Given the description of an element on the screen output the (x, y) to click on. 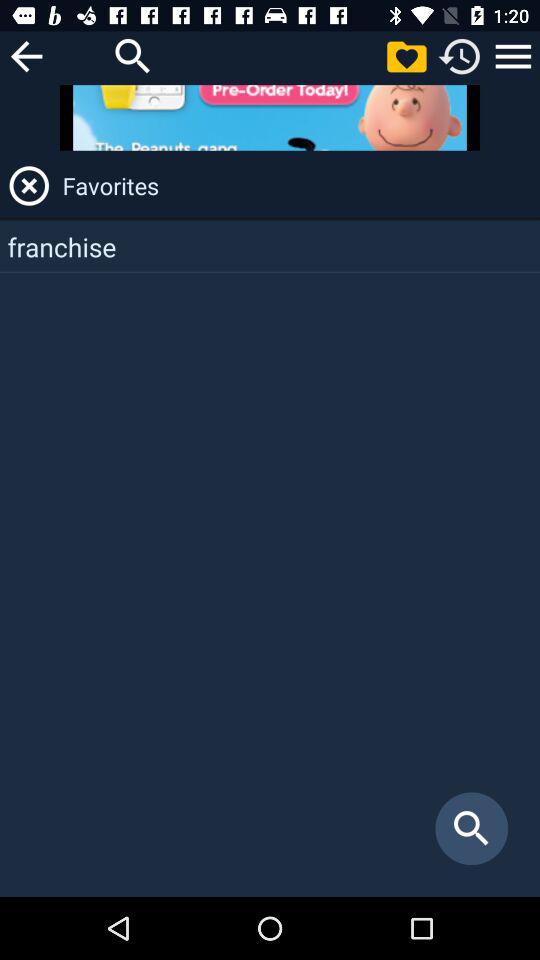
go back (26, 56)
